Given the description of an element on the screen output the (x, y) to click on. 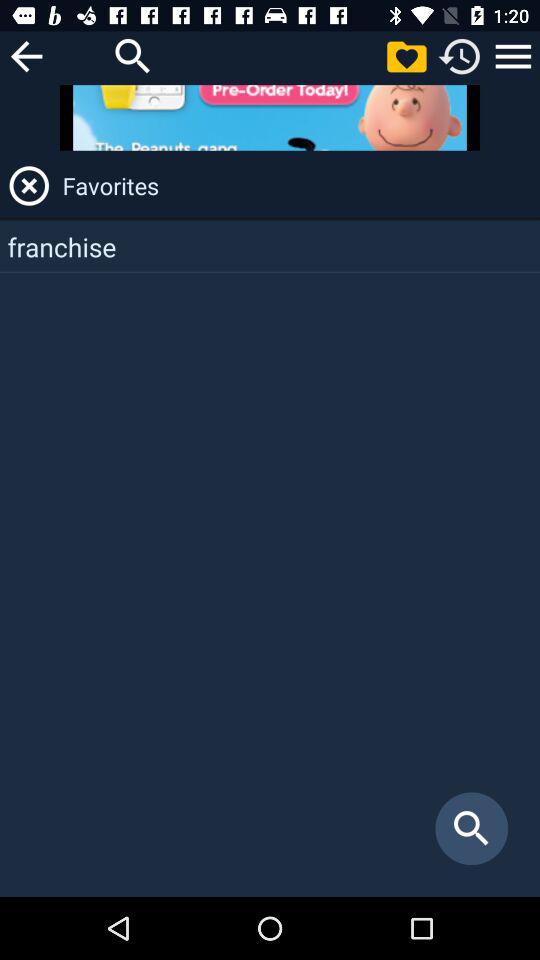
go back (26, 56)
